Given the description of an element on the screen output the (x, y) to click on. 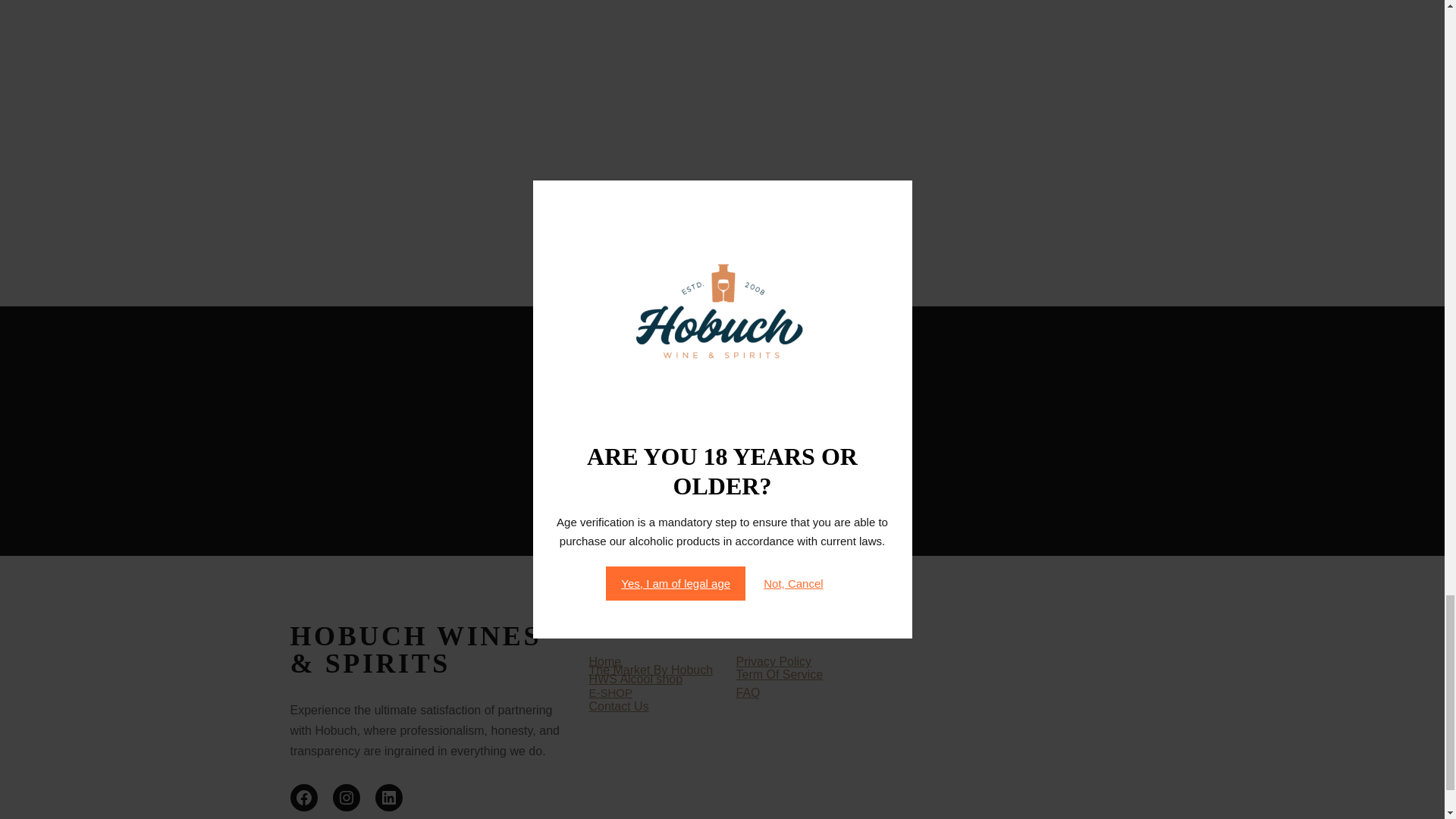
Home (604, 661)
Instagram (345, 797)
The Market By Hobuch (650, 669)
E-SHOP (609, 692)
LinkedIn (387, 797)
HWS Alcool shop (635, 678)
Facebook (303, 797)
